Given the description of an element on the screen output the (x, y) to click on. 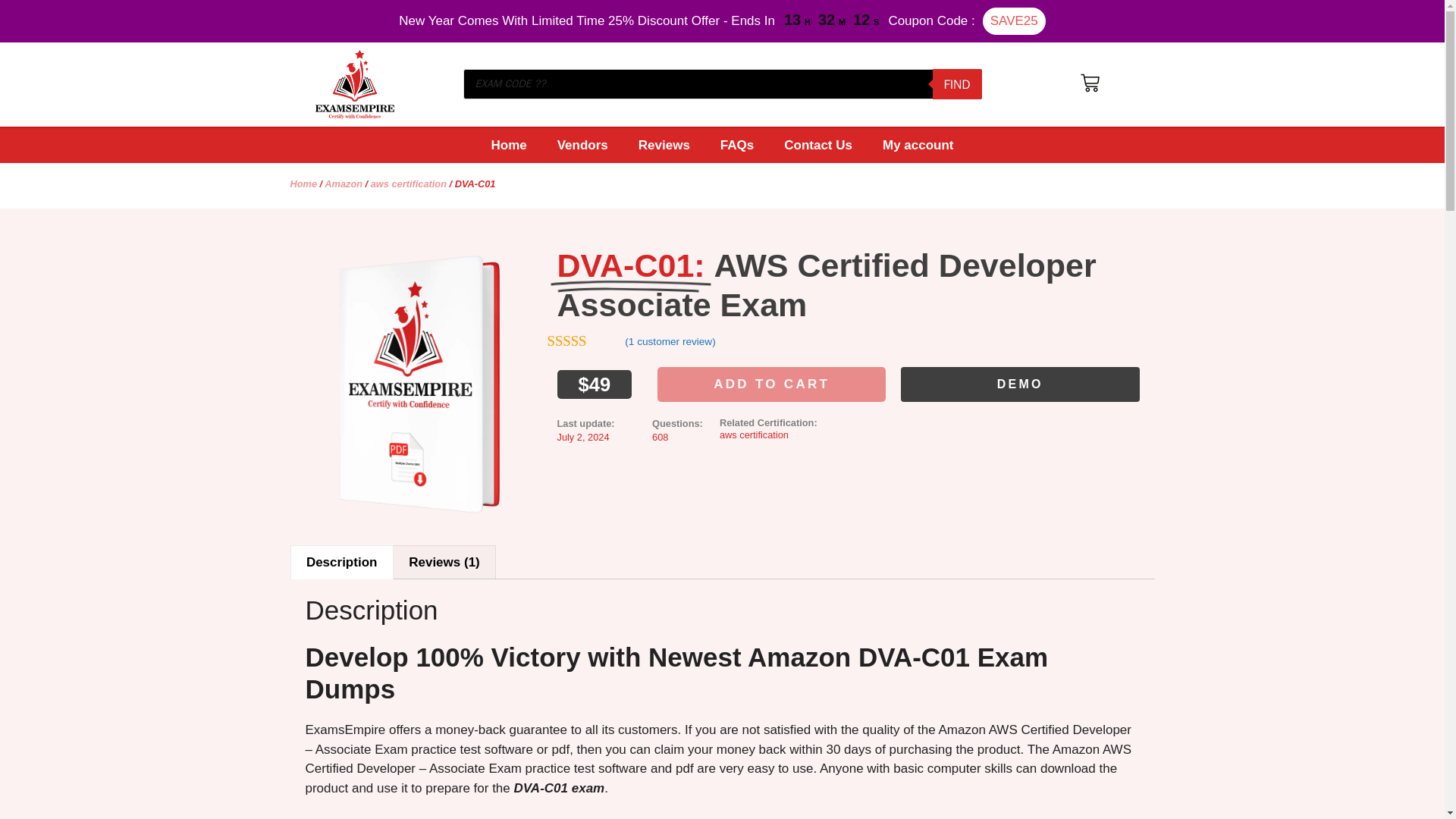
Vendors (582, 144)
My account (918, 144)
Home (303, 183)
Reviews (663, 144)
Contact Us (817, 144)
ADD TO CART (771, 384)
Rated 5.00 out of 5 (585, 341)
Home (508, 144)
Description (767, 428)
FIND (342, 562)
DEMO (957, 83)
Amazon (1020, 384)
FAQs (343, 183)
aws certification (736, 144)
